Given the description of an element on the screen output the (x, y) to click on. 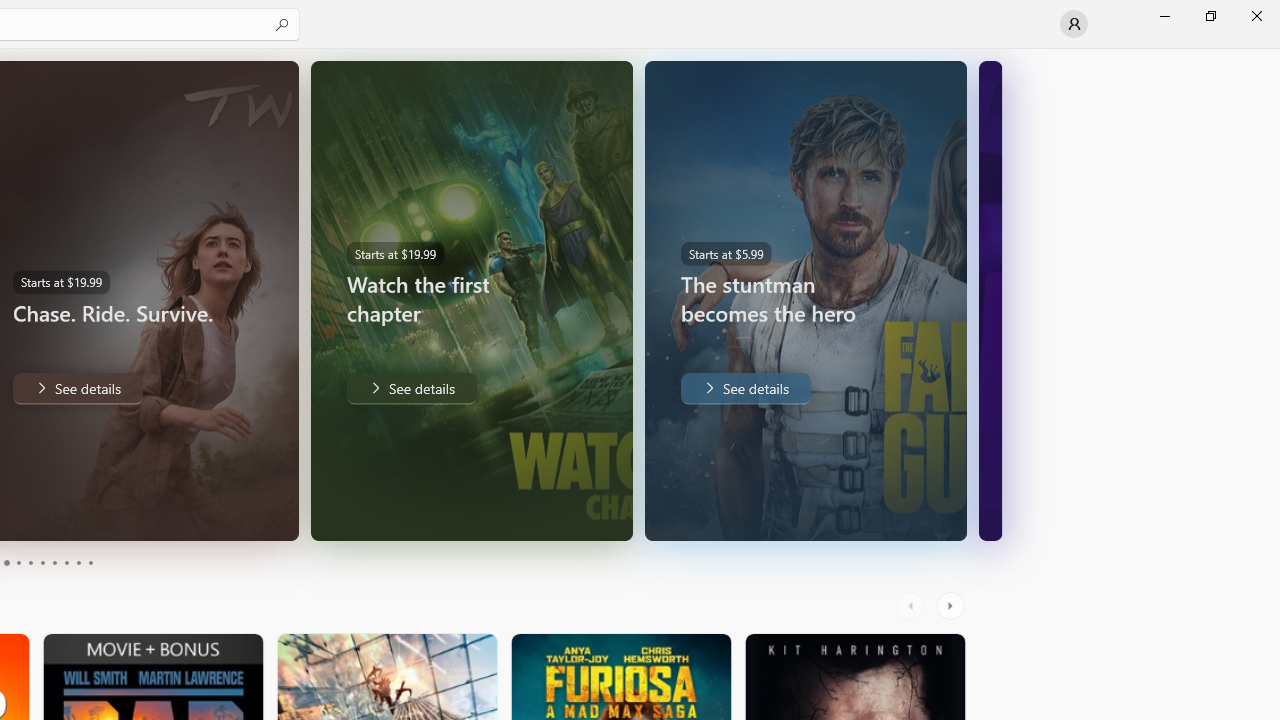
Page 4 (17, 562)
AutomationID: Image (989, 300)
